Given the description of an element on the screen output the (x, y) to click on. 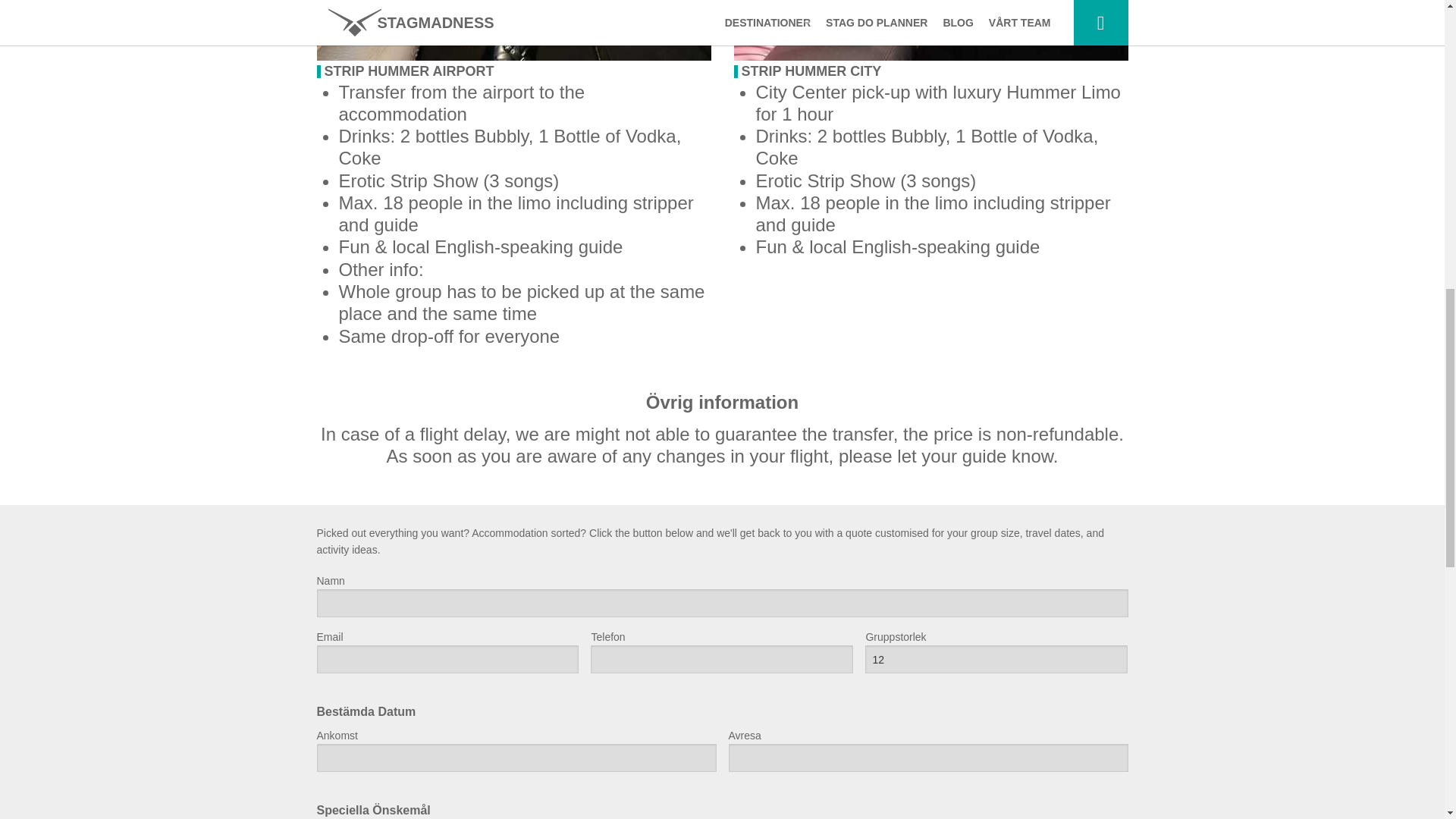
12 (995, 659)
STRIP HUMMER AIRPORT (409, 70)
STRIP HUMMER CITY (811, 70)
